Given the description of an element on the screen output the (x, y) to click on. 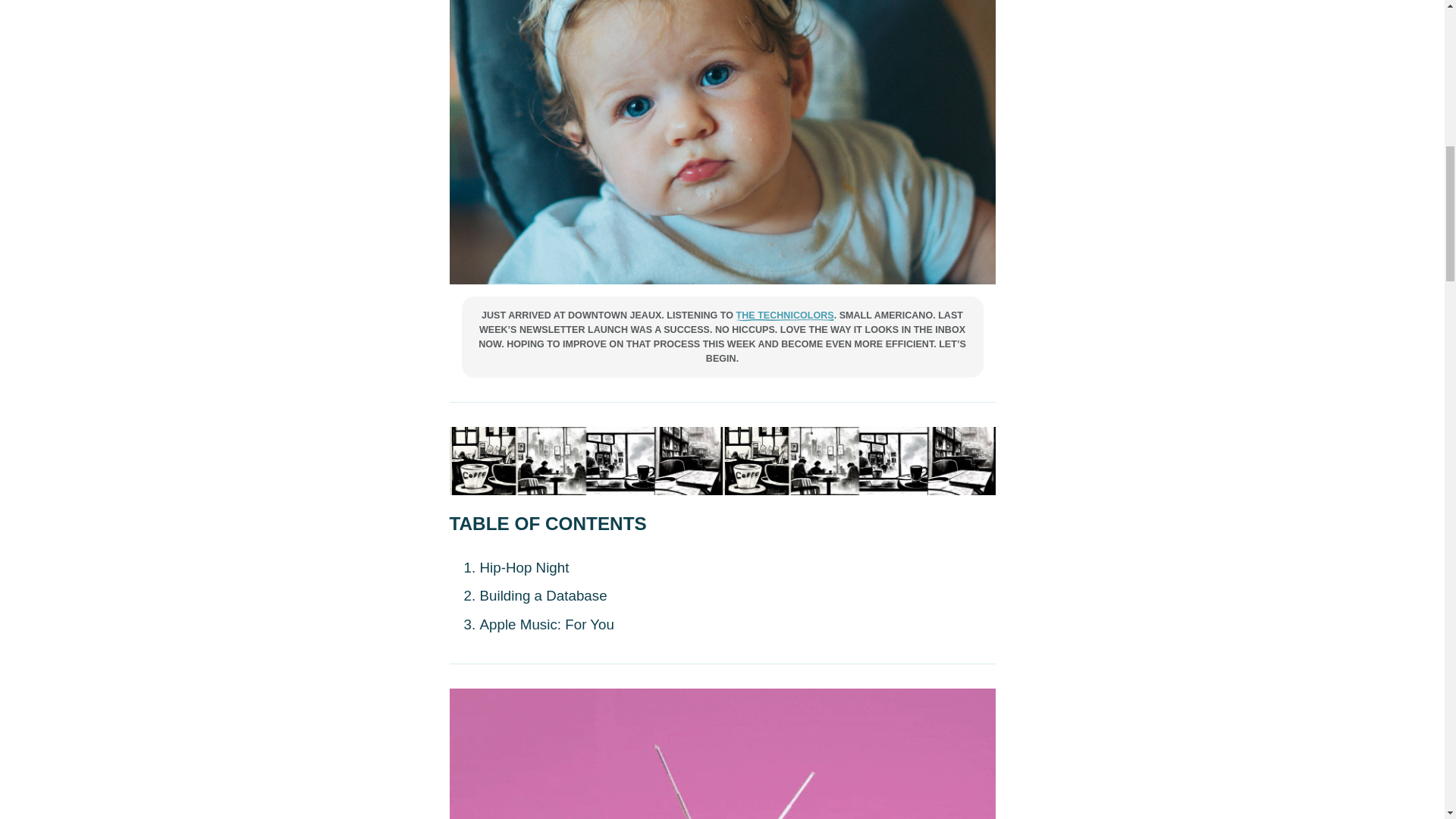
THE TECHNICOLORS (785, 315)
